Given the description of an element on the screen output the (x, y) to click on. 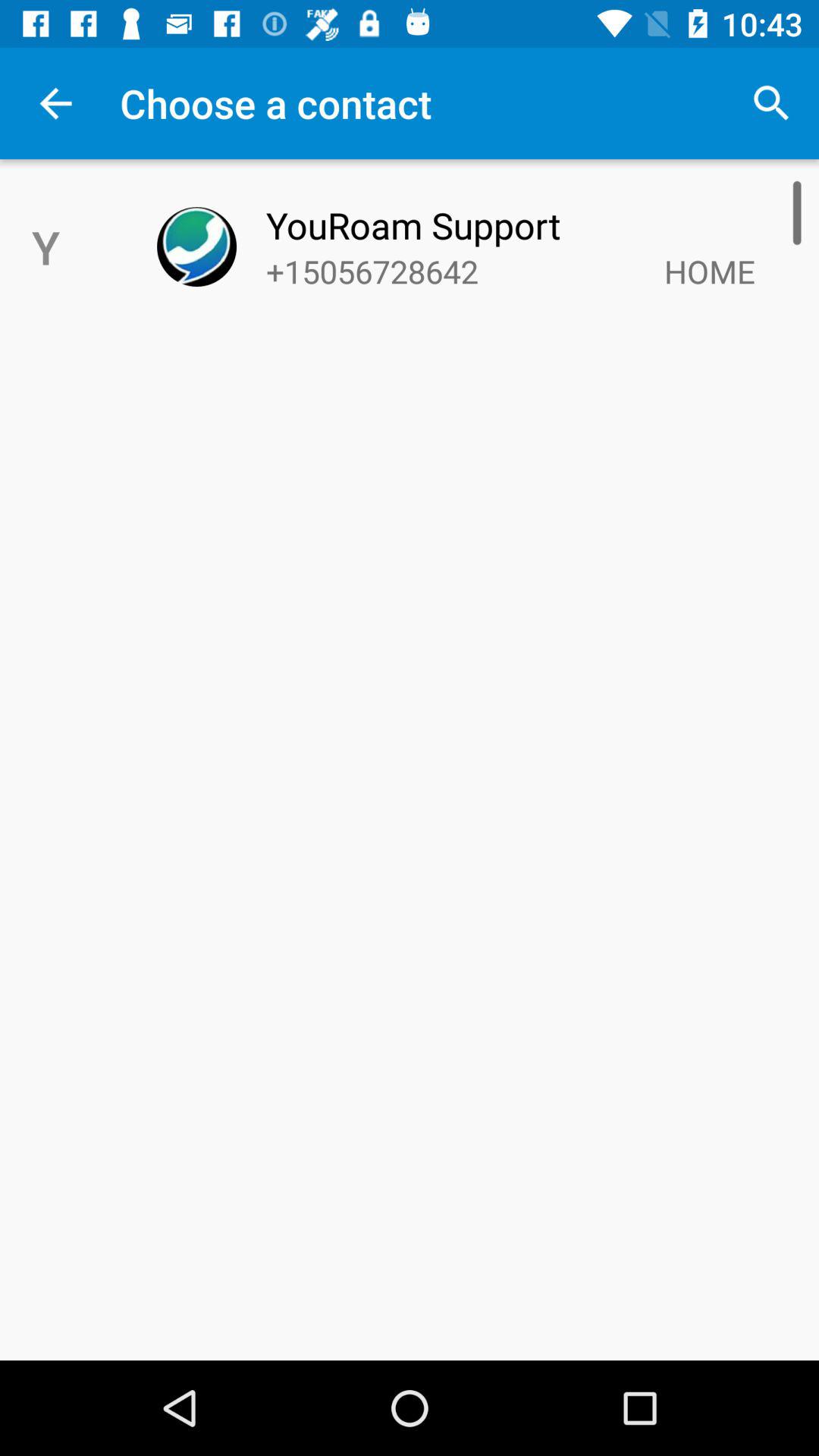
open app above y app (55, 103)
